Given the description of an element on the screen output the (x, y) to click on. 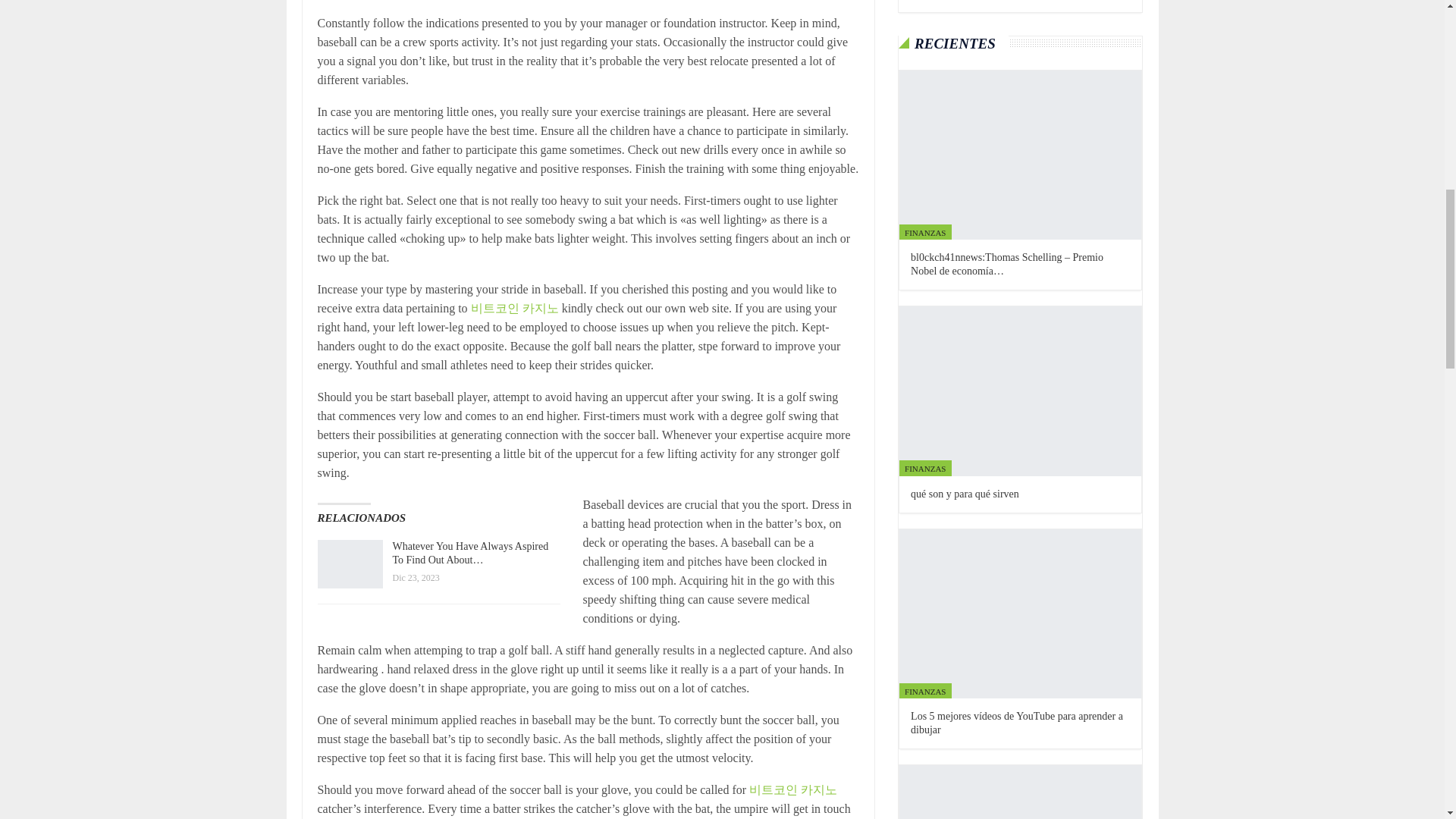
Whatever You Have Always Aspired To Find Out About Football (349, 563)
